Given the description of an element on the screen output the (x, y) to click on. 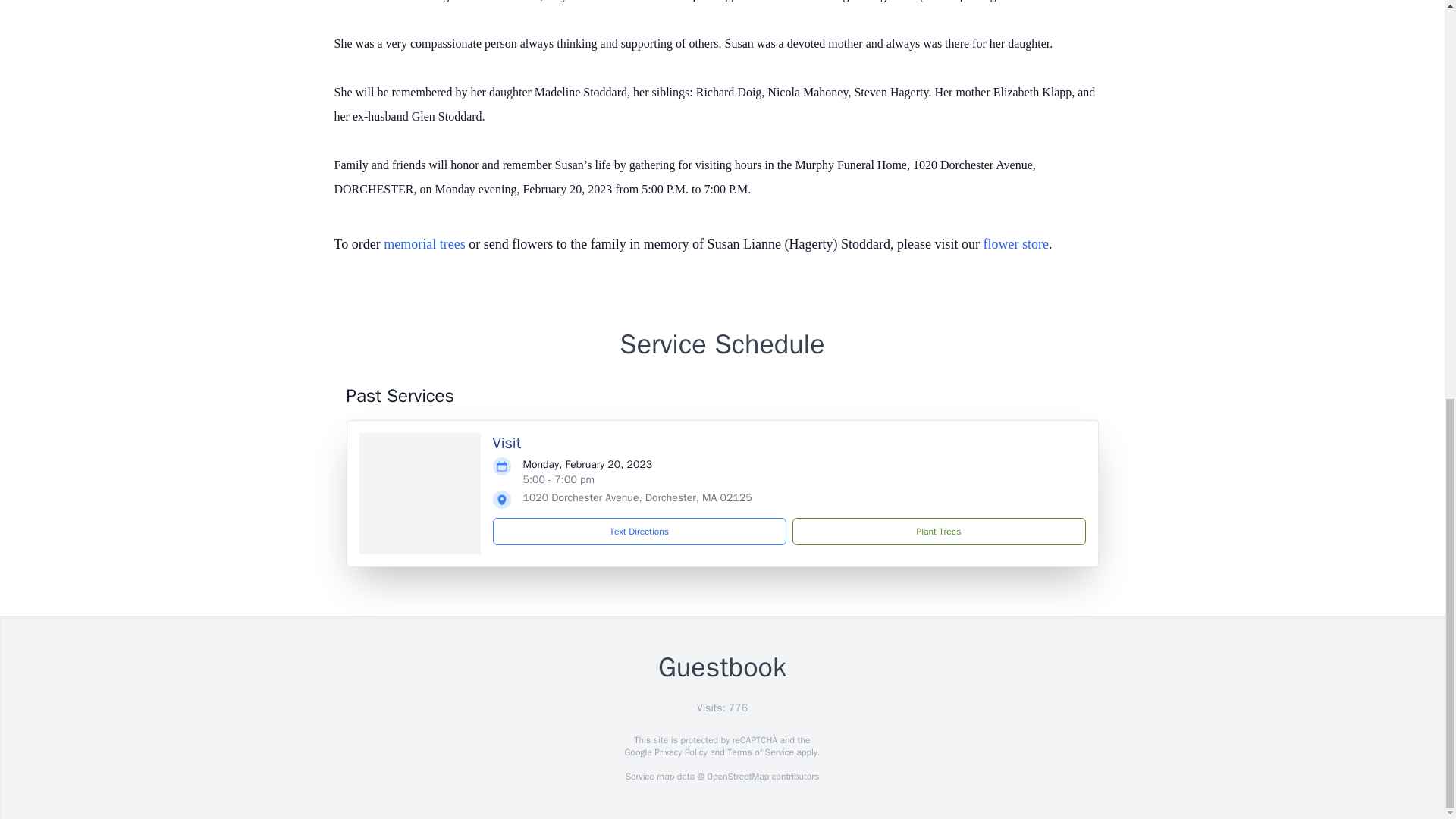
OpenStreetMap (737, 776)
Privacy Policy (679, 752)
Plant Trees (938, 531)
1020 Dorchester Avenue, Dorchester, MA 02125 (637, 497)
Terms of Service (759, 752)
Text Directions (639, 531)
flower store (1016, 243)
memorial trees (424, 243)
